Given the description of an element on the screen output the (x, y) to click on. 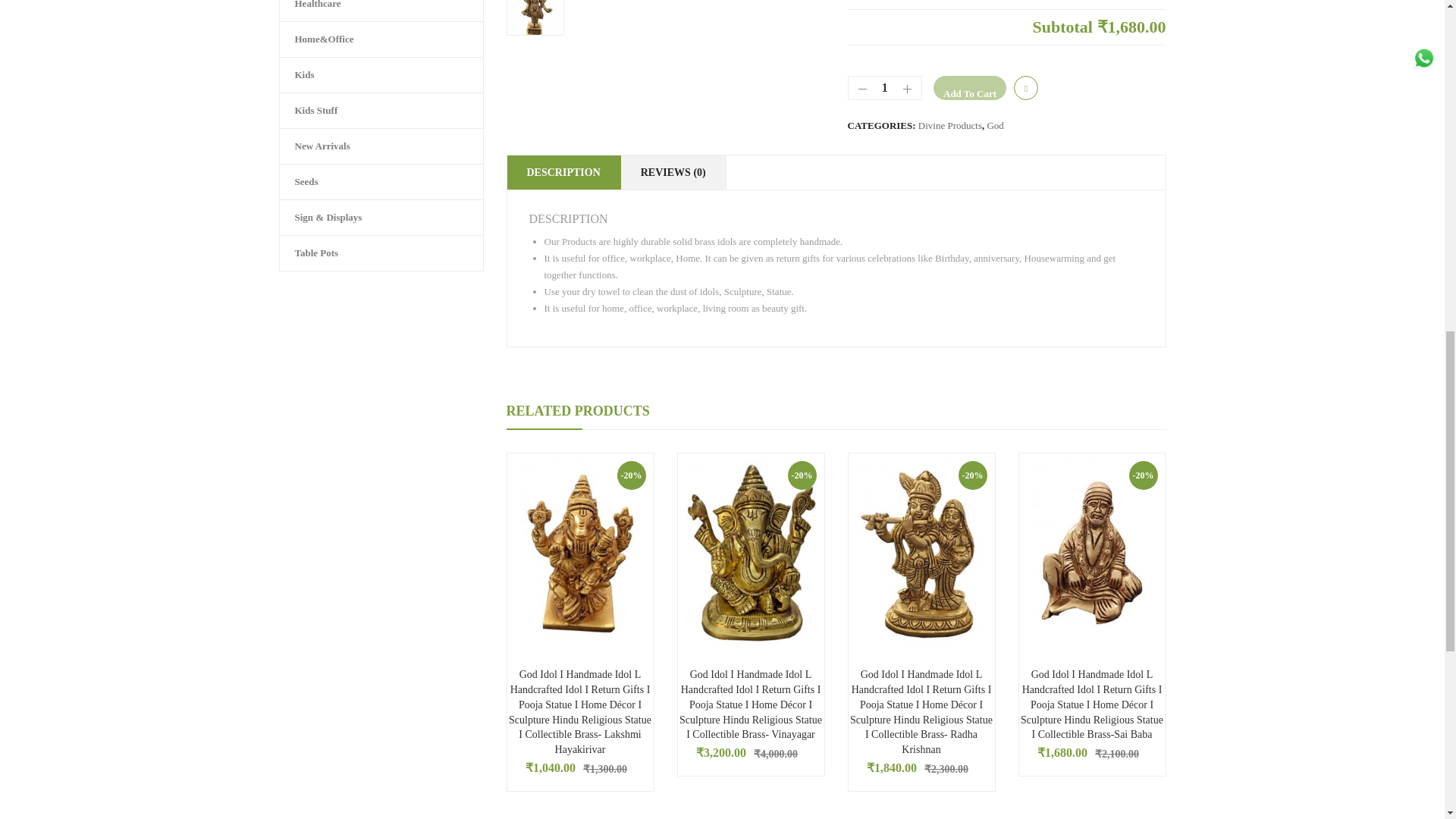
Qty (884, 87)
1 (884, 87)
- (858, 91)
Add To WishList (1025, 87)
